Given the description of an element on the screen output the (x, y) to click on. 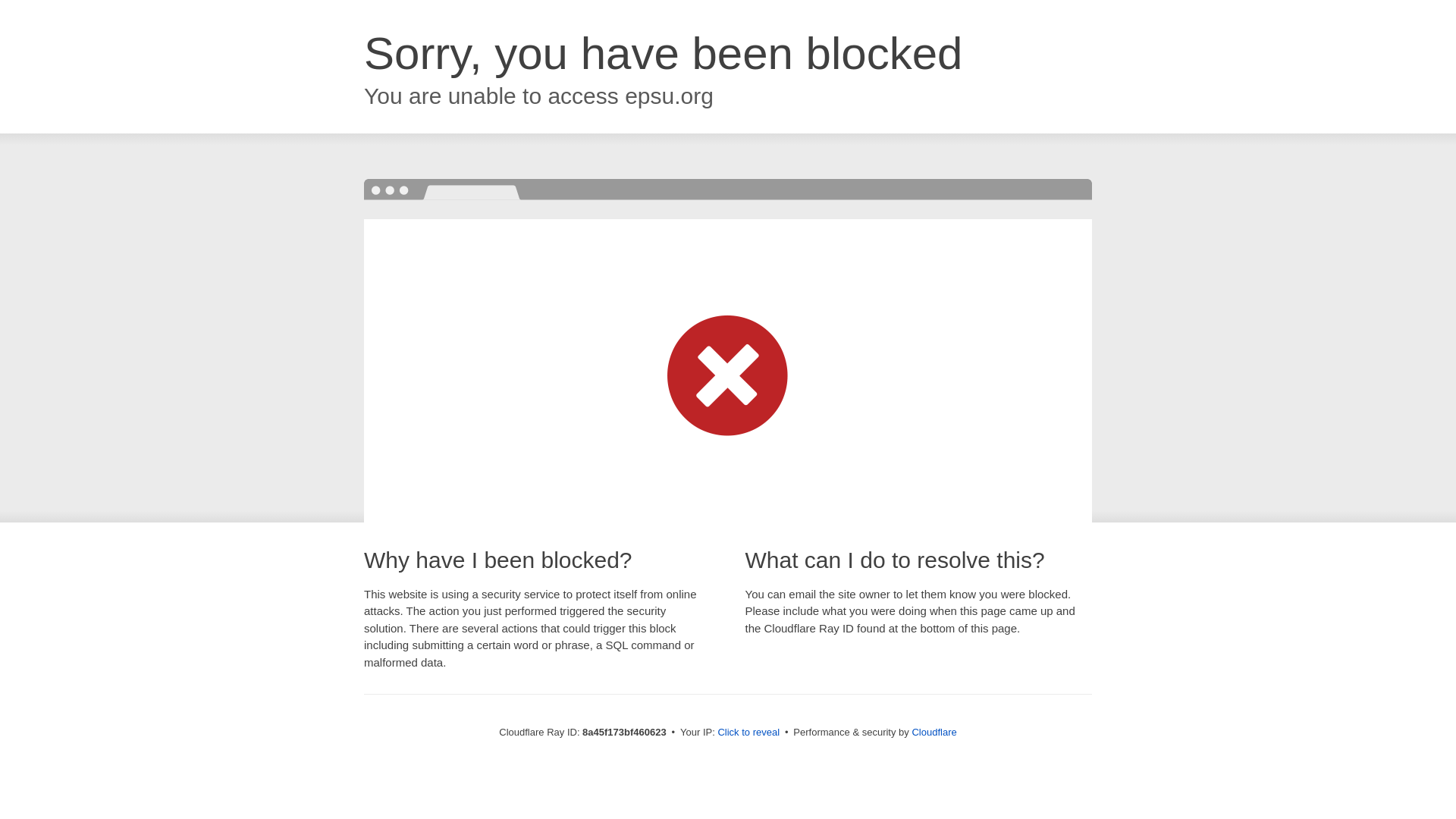
Cloudflare (933, 731)
Click to reveal (747, 732)
